Given the description of an element on the screen output the (x, y) to click on. 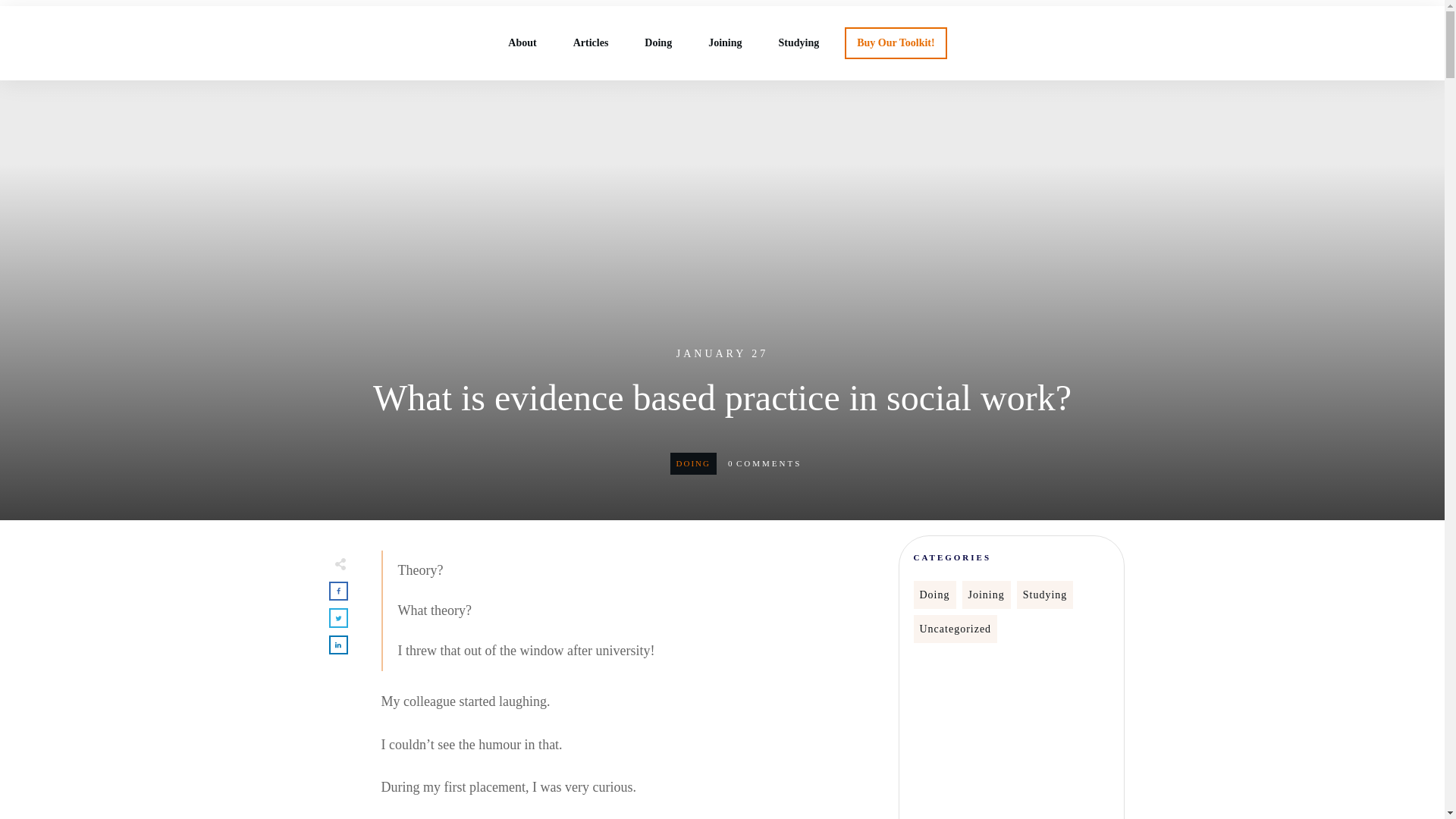
DOING (693, 462)
About (521, 43)
Buy Our Toolkit! (895, 43)
Articles (590, 43)
Uncategorized (954, 628)
Studying (1045, 594)
Studying (797, 43)
Joining (986, 594)
Doing (658, 43)
Doing (933, 594)
Doing (693, 462)
Joining (724, 43)
